Given the description of an element on the screen output the (x, y) to click on. 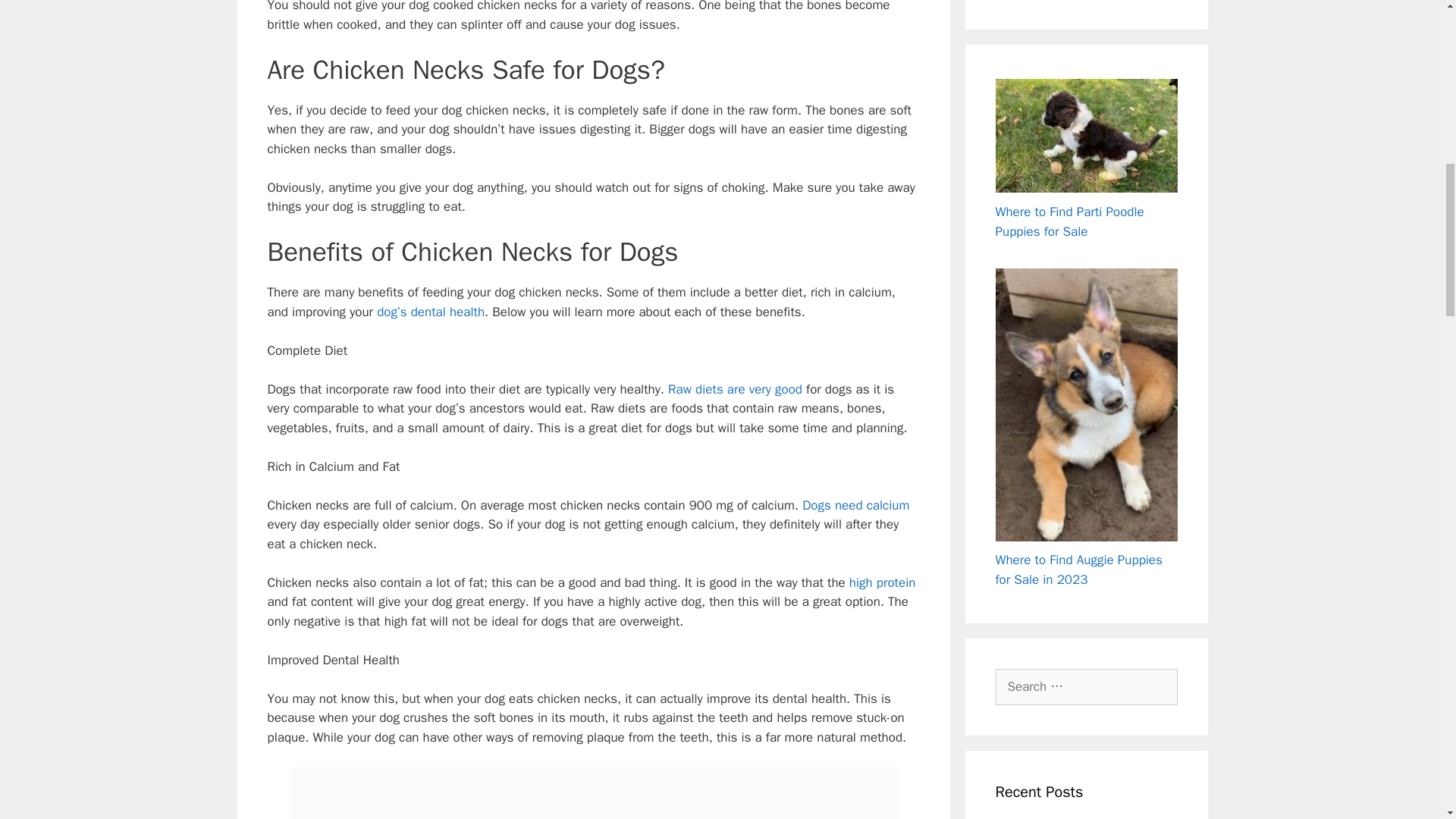
Where to Find Auggie Puppies for Sale in 2023 (1077, 570)
Search for: (1085, 687)
Dogs need calcium (855, 505)
Where to Find Parti Poodle Puppies for Sale (1068, 221)
Raw diets are very good (732, 389)
high protein (881, 582)
